Given the description of an element on the screen output the (x, y) to click on. 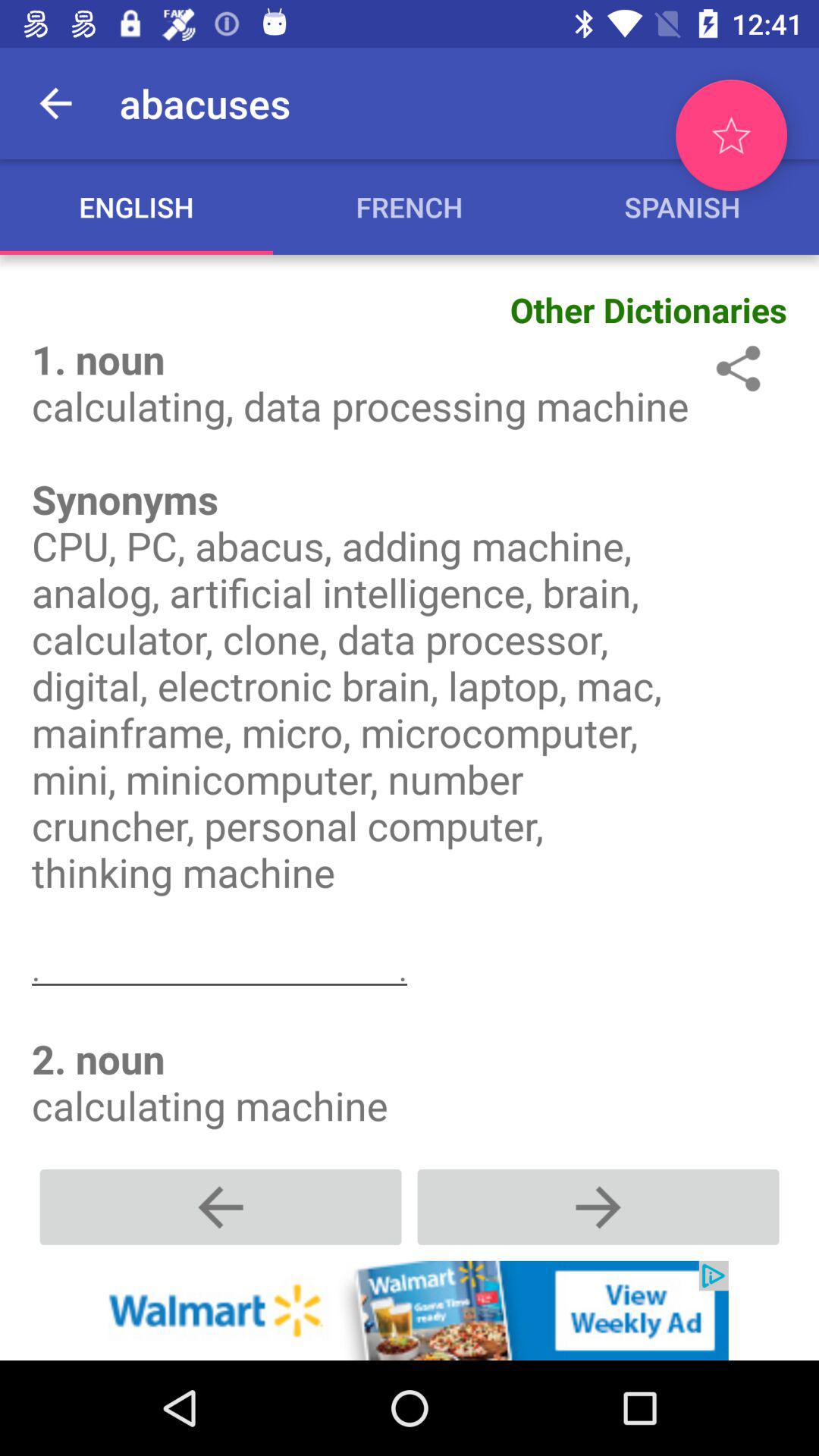
star button (731, 135)
